Given the description of an element on the screen output the (x, y) to click on. 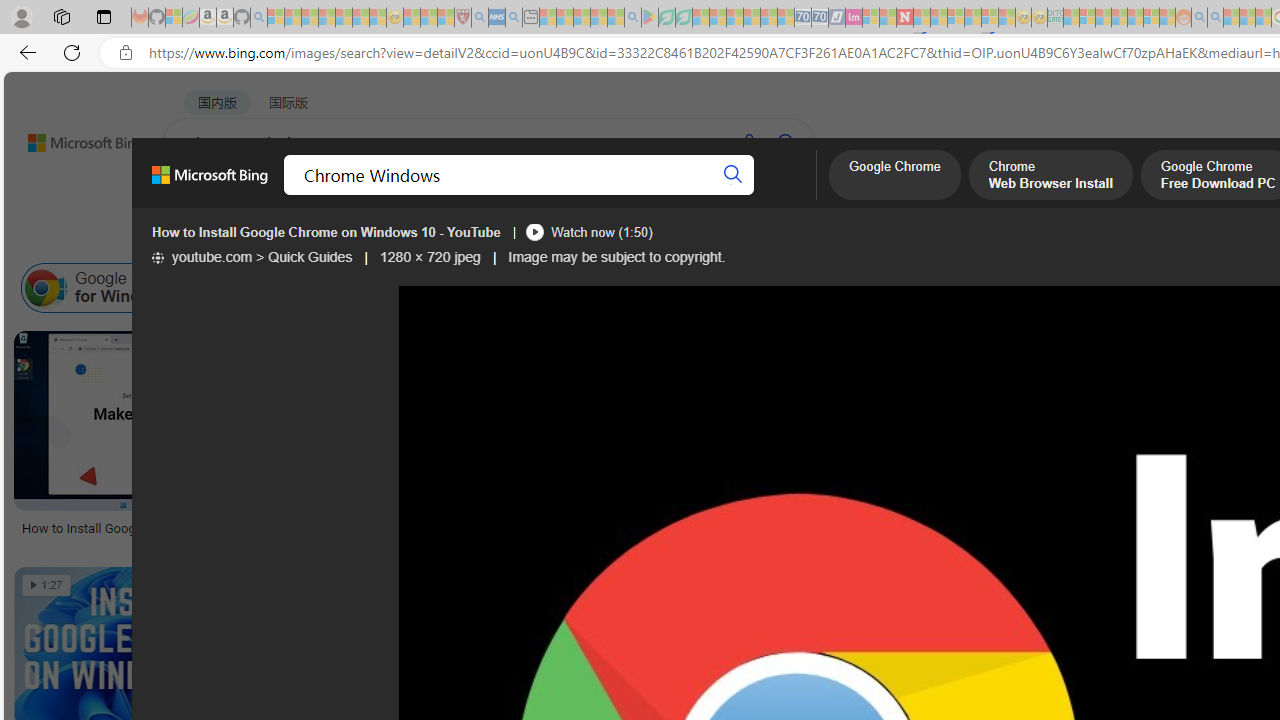
Type (373, 237)
Cheap Hotels - Save70.com - Sleeping (819, 17)
Google Chrome for Windows (45, 287)
How to Install Google Chrome on Windows 10 (559, 527)
MORE (793, 195)
How to Install Google Chrome on Windows 11 (153, 528)
ACADEMIC (635, 195)
1:50 (432, 349)
Recipes - MSN - Sleeping (411, 17)
Workspaces (61, 16)
